Given the description of an element on the screen output the (x, y) to click on. 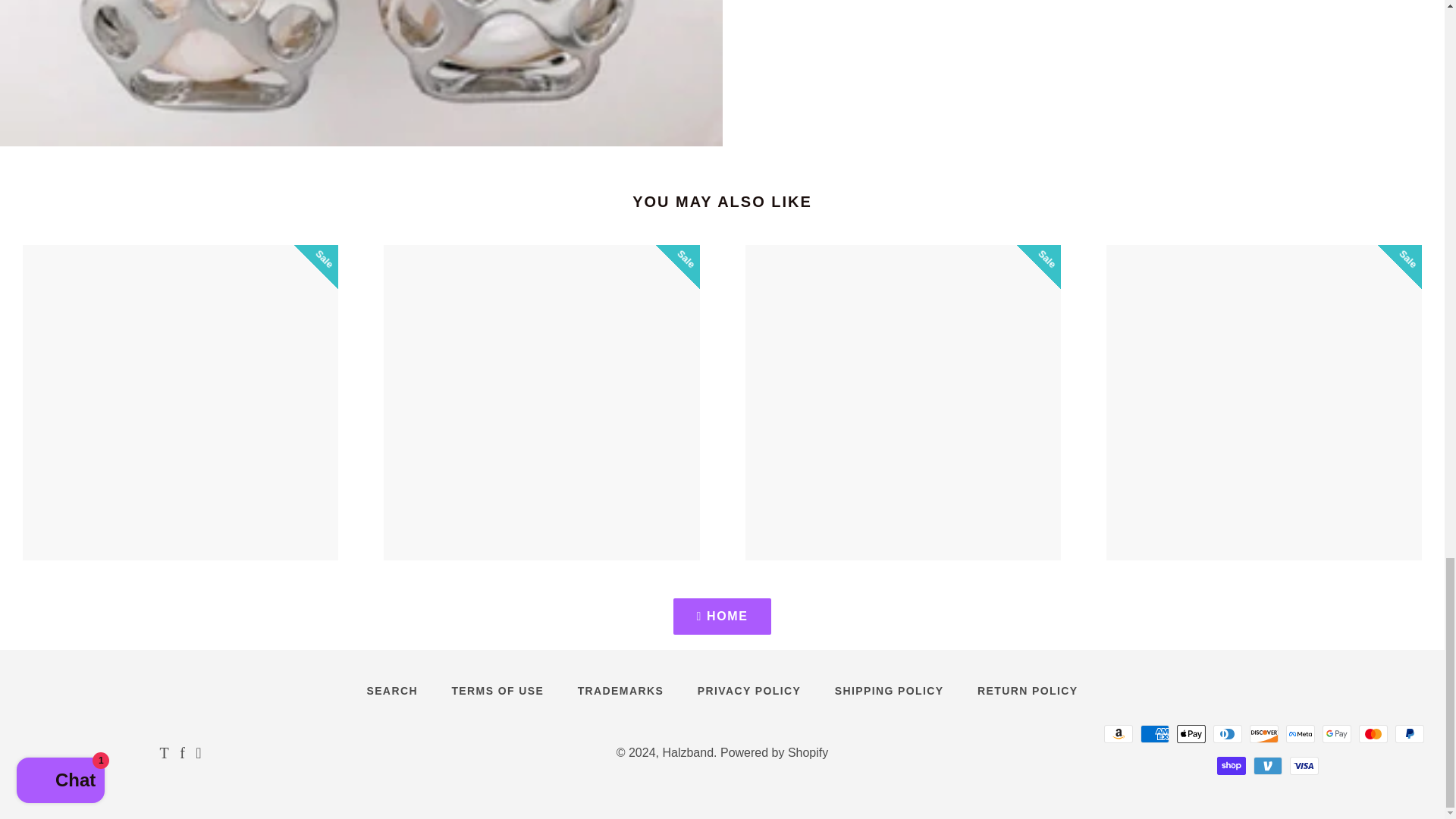
Amazon (1117, 733)
Discover (1263, 733)
Sale (180, 402)
Apple Pay (1190, 733)
PayPal (1408, 733)
Google Pay (1336, 733)
Diners Club (1226, 733)
Visa (1304, 765)
Mastercard (1372, 733)
American Express (1154, 733)
Venmo (1267, 765)
Shop Pay (1231, 765)
Meta Pay (1299, 733)
